Given the description of an element on the screen output the (x, y) to click on. 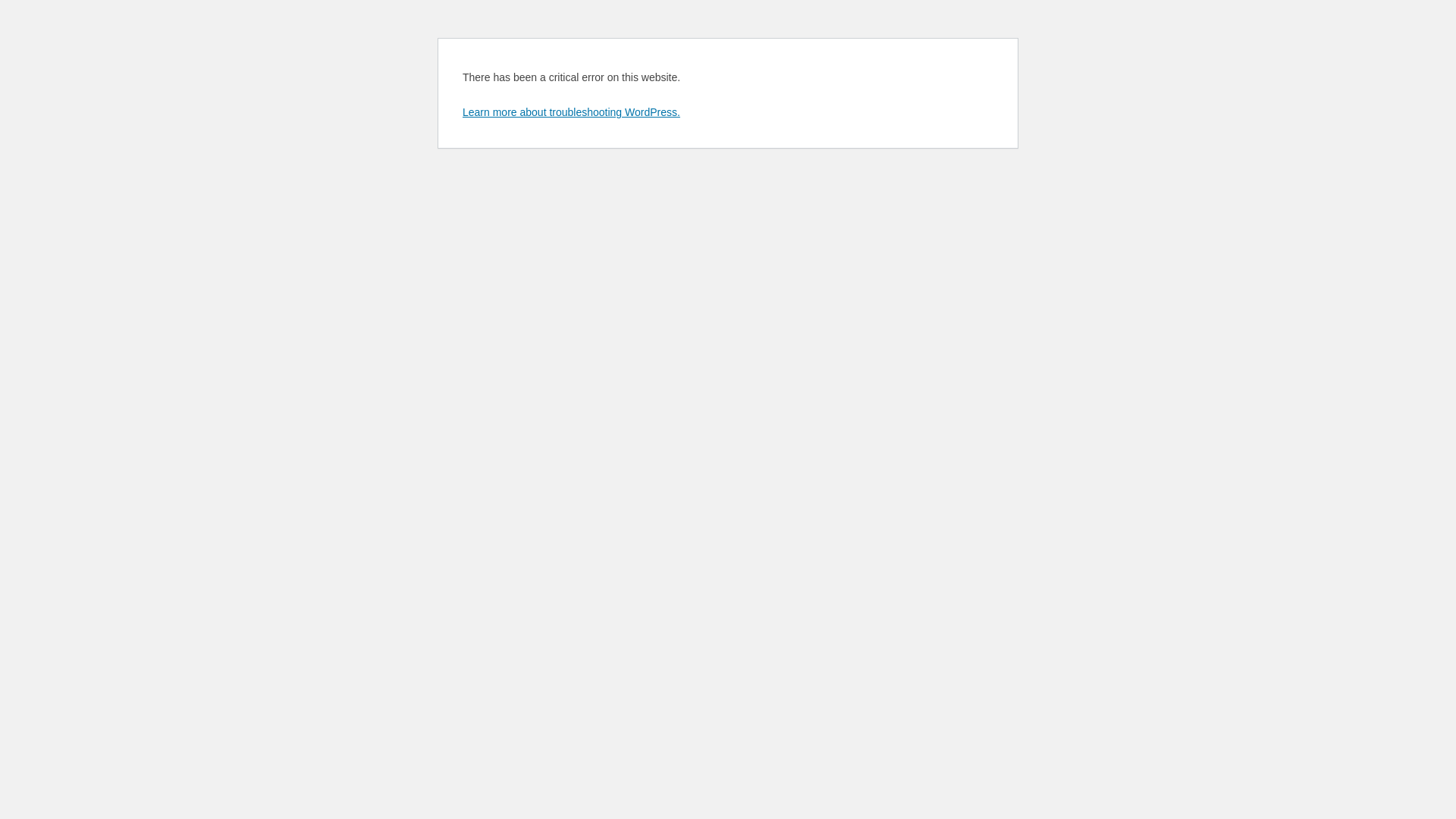
Learn more about troubleshooting WordPress. Element type: text (571, 112)
